Given the description of an element on the screen output the (x, y) to click on. 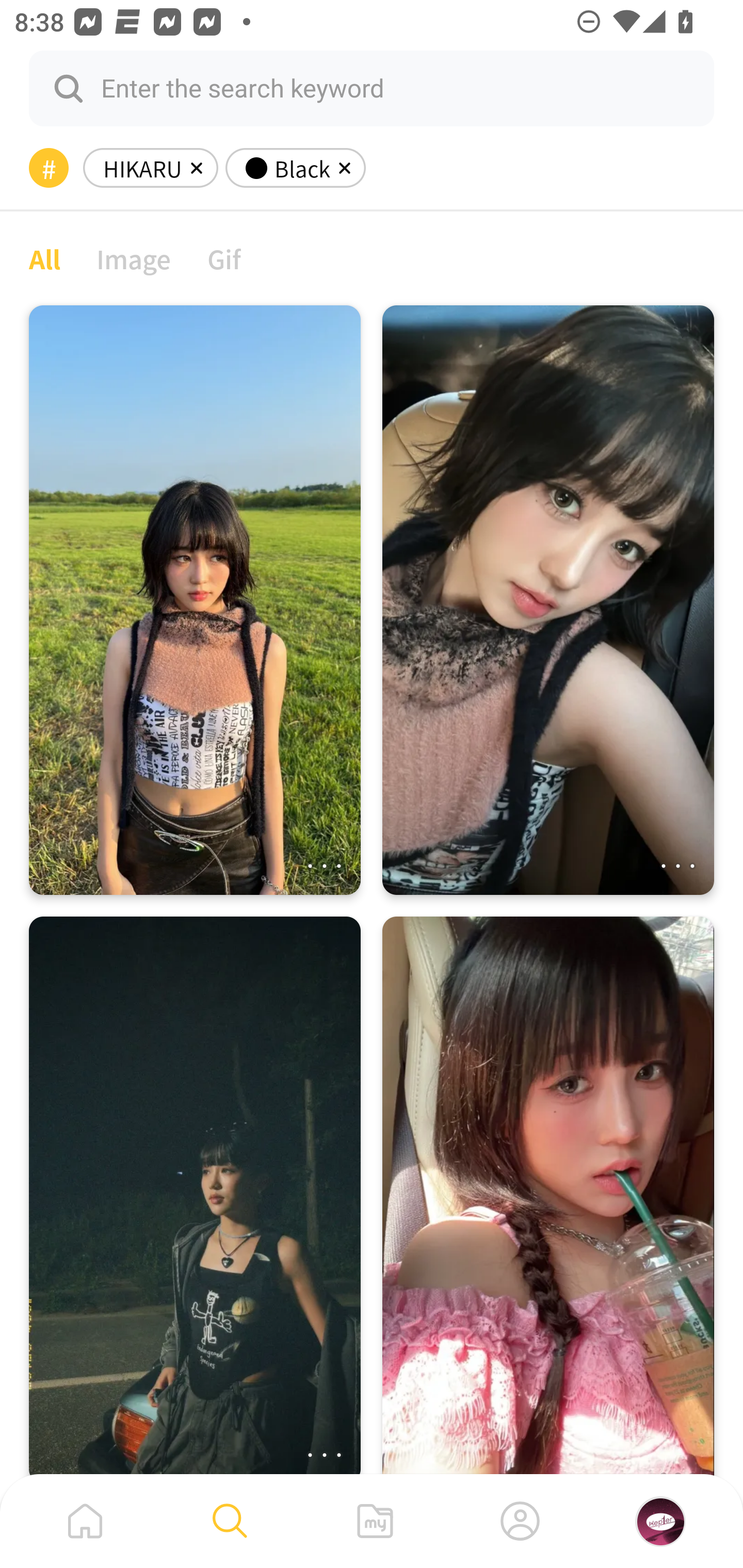
All (44, 257)
Image (133, 257)
Gif (223, 257)
